Given the description of an element on the screen output the (x, y) to click on. 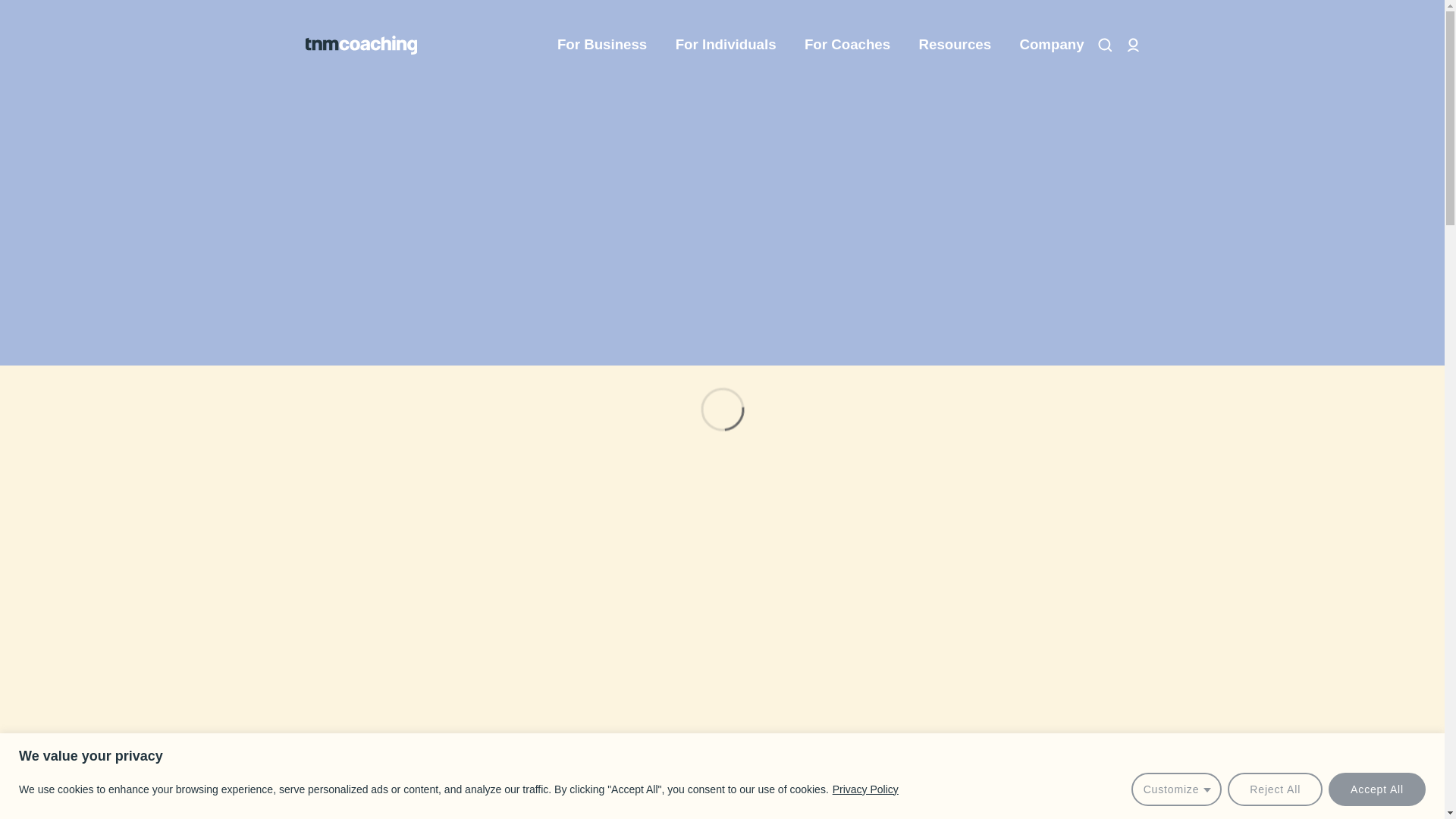
Resources (962, 44)
Search (1104, 44)
Reject All (1274, 788)
Company (1051, 44)
Accept All (1376, 788)
For Coaches (854, 44)
For Individuals (732, 44)
For Business (609, 44)
Customize (1177, 788)
Account (1133, 44)
Privacy Policy (865, 789)
